Given the description of an element on the screen output the (x, y) to click on. 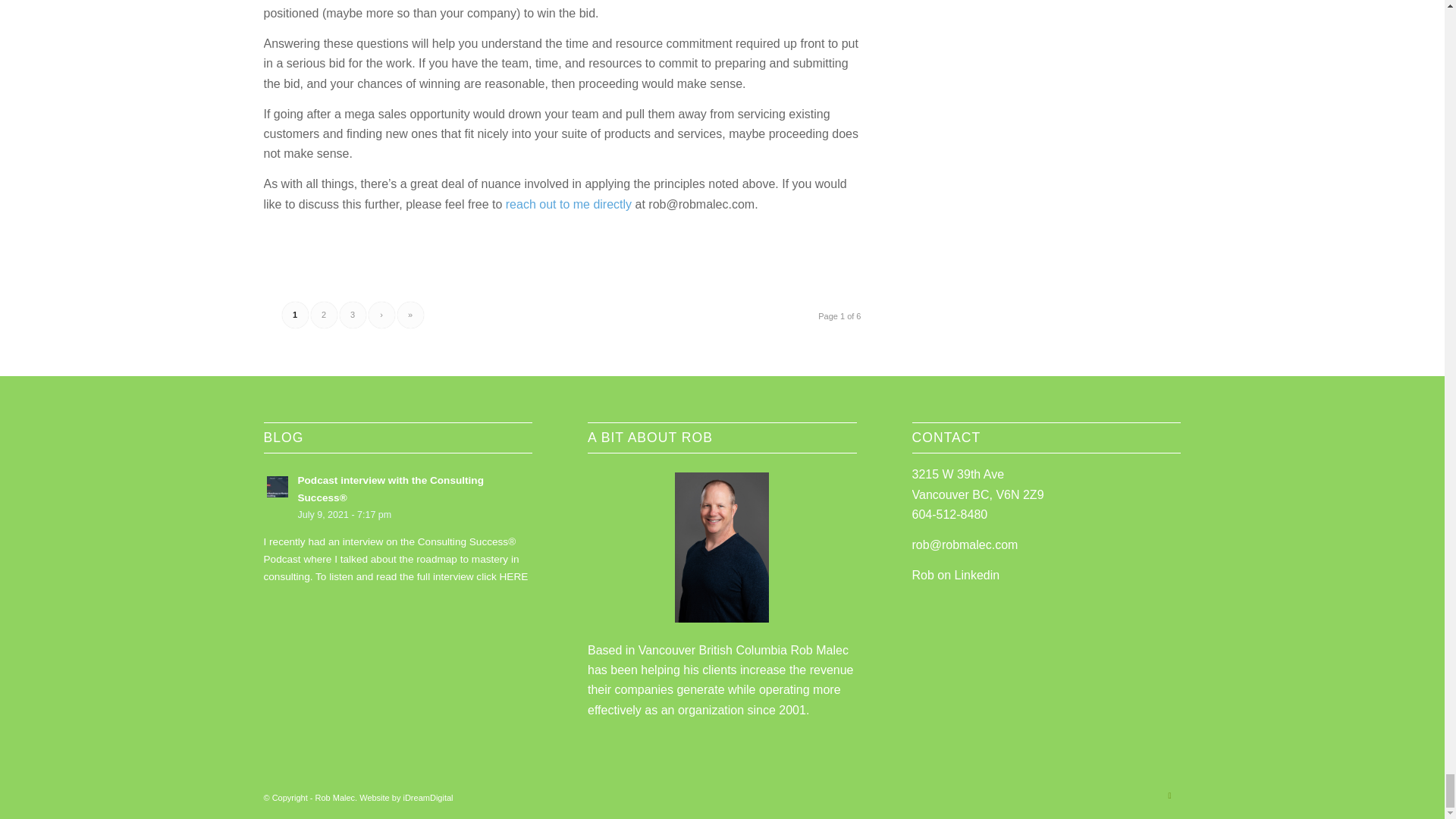
LinkedIn (1169, 794)
